Given the description of an element on the screen output the (x, y) to click on. 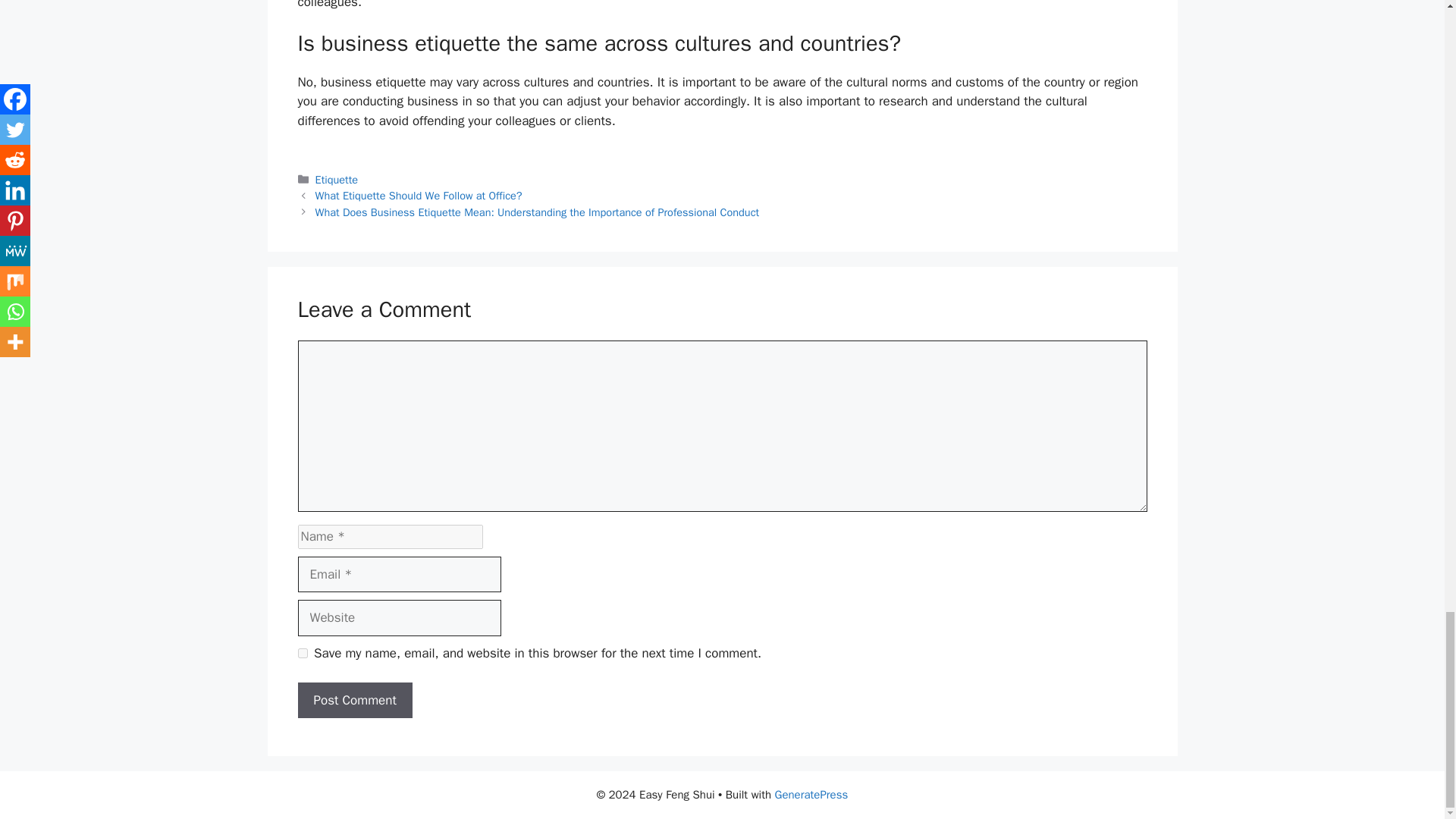
Etiquette (336, 179)
What Etiquette Should We Follow at Office? (418, 195)
Post Comment (354, 700)
yes (302, 653)
